Given the description of an element on the screen output the (x, y) to click on. 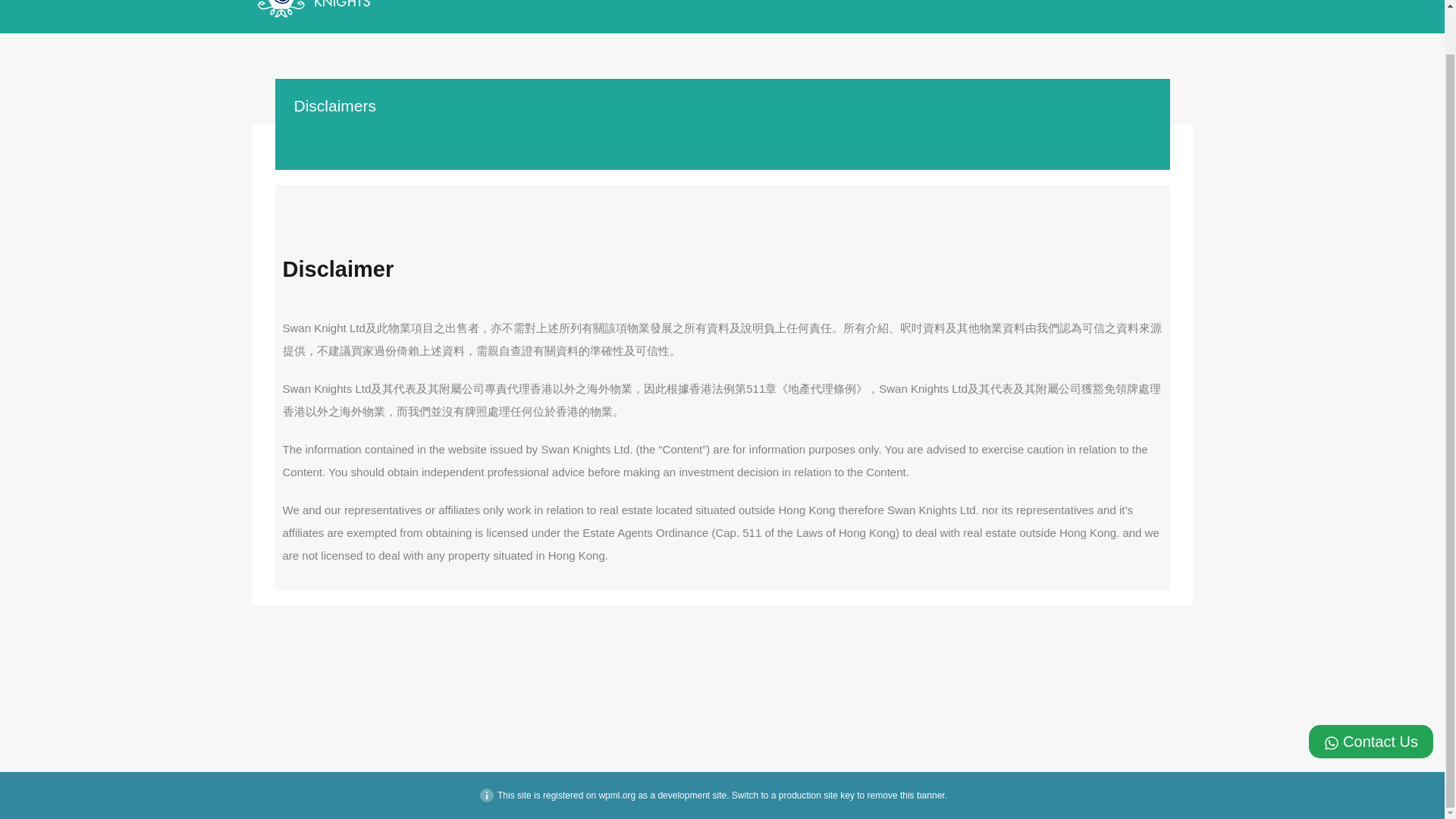
Contact Us (1053, 6)
Swan Knights (311, 10)
Properties (795, 6)
Events (854, 6)
remove this banner (905, 795)
Contact Us (1370, 694)
Our Service (980, 6)
wpml.org (616, 795)
Home (737, 6)
About Us (911, 6)
